Given the description of an element on the screen output the (x, y) to click on. 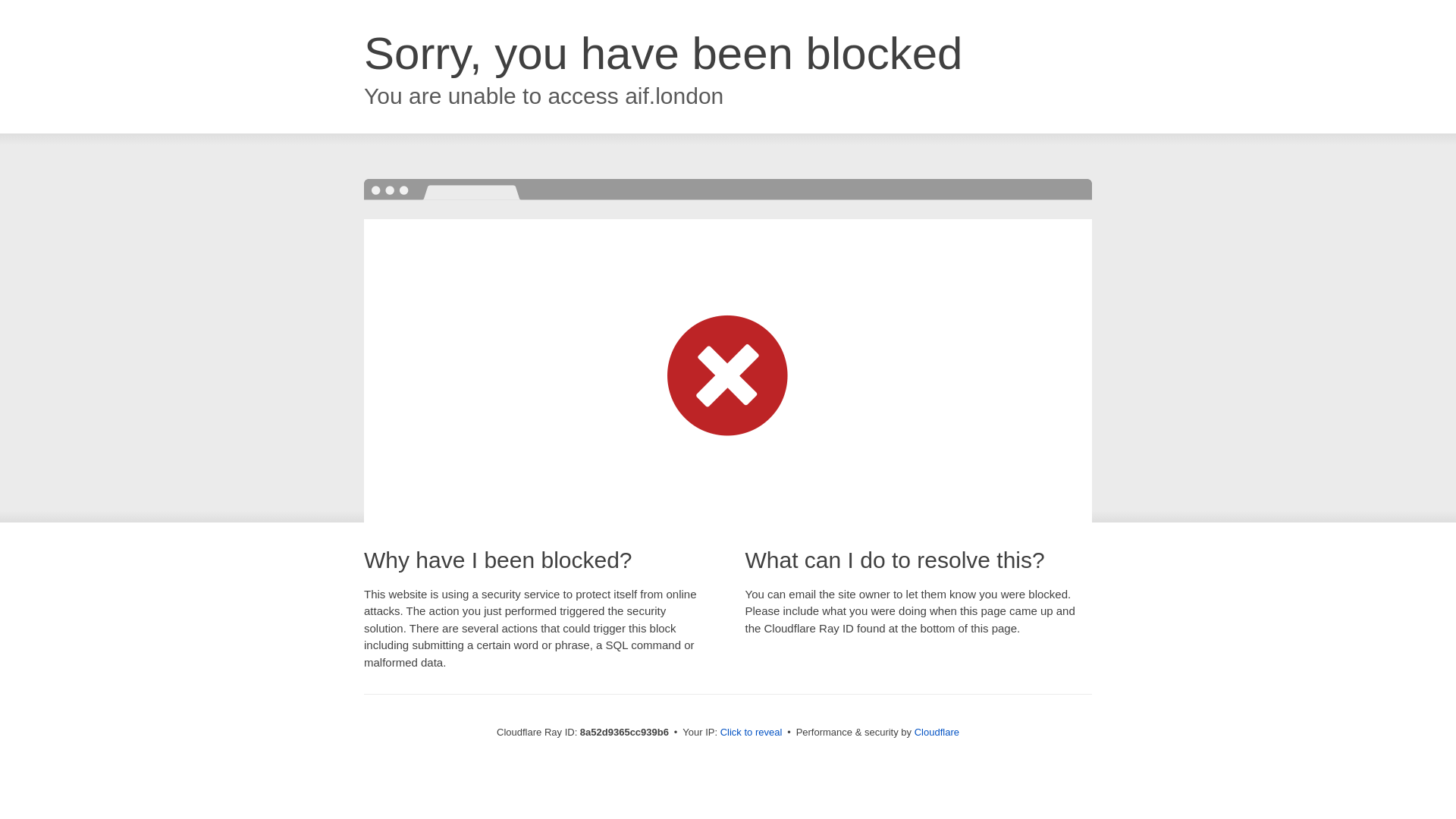
Click to reveal (751, 732)
Cloudflare (936, 731)
